Given the description of an element on the screen output the (x, y) to click on. 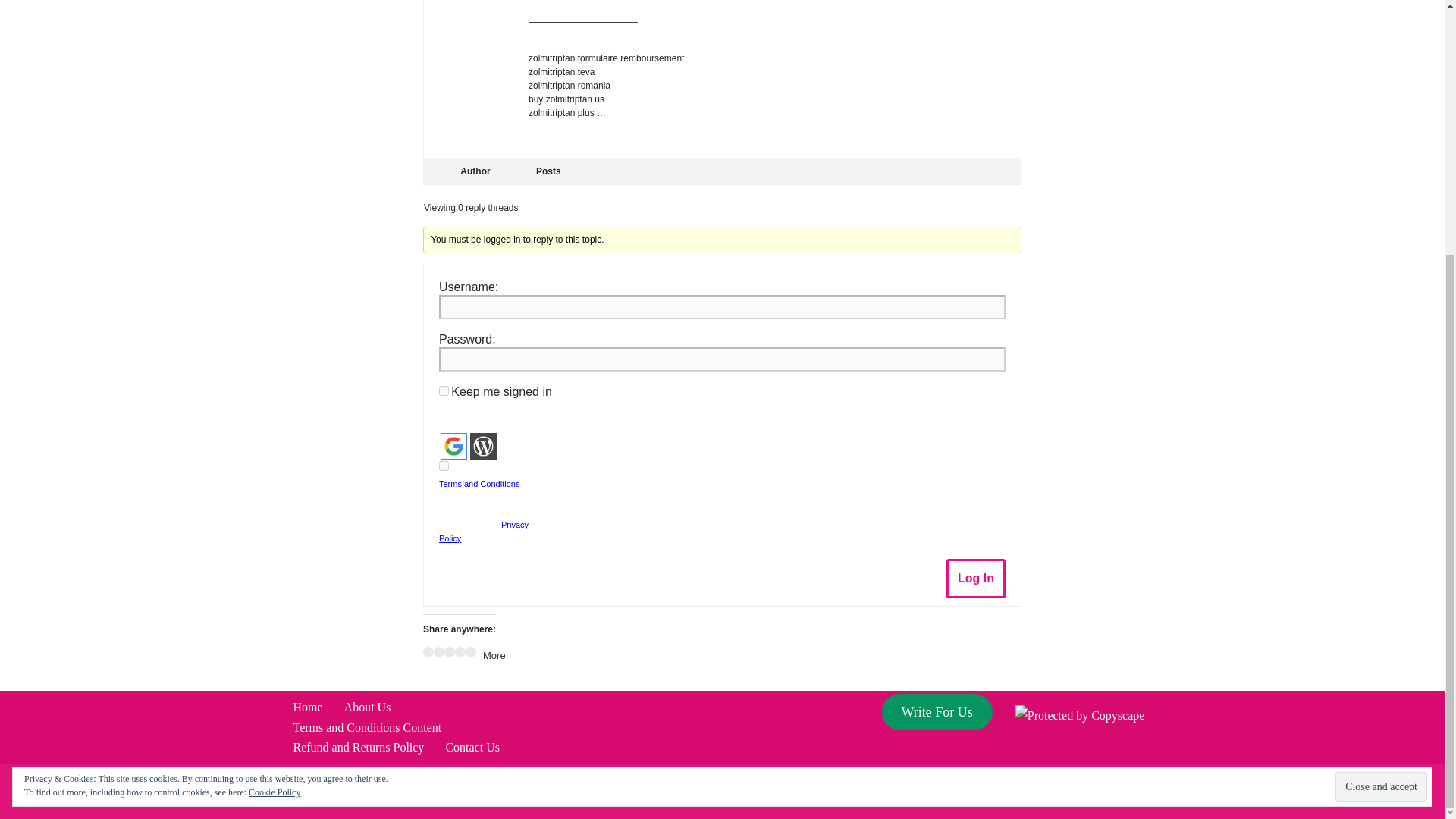
Click to share on Twitter (438, 652)
Click to share on Tumblr (459, 652)
Login with Wordpress (483, 446)
Click to share on Pinterest (449, 652)
Click to share on Facebook (428, 652)
1 (443, 465)
Login with Google (454, 446)
Close and accept (1380, 426)
Click to share on WhatsApp (470, 652)
forever (443, 390)
